Given the description of an element on the screen output the (x, y) to click on. 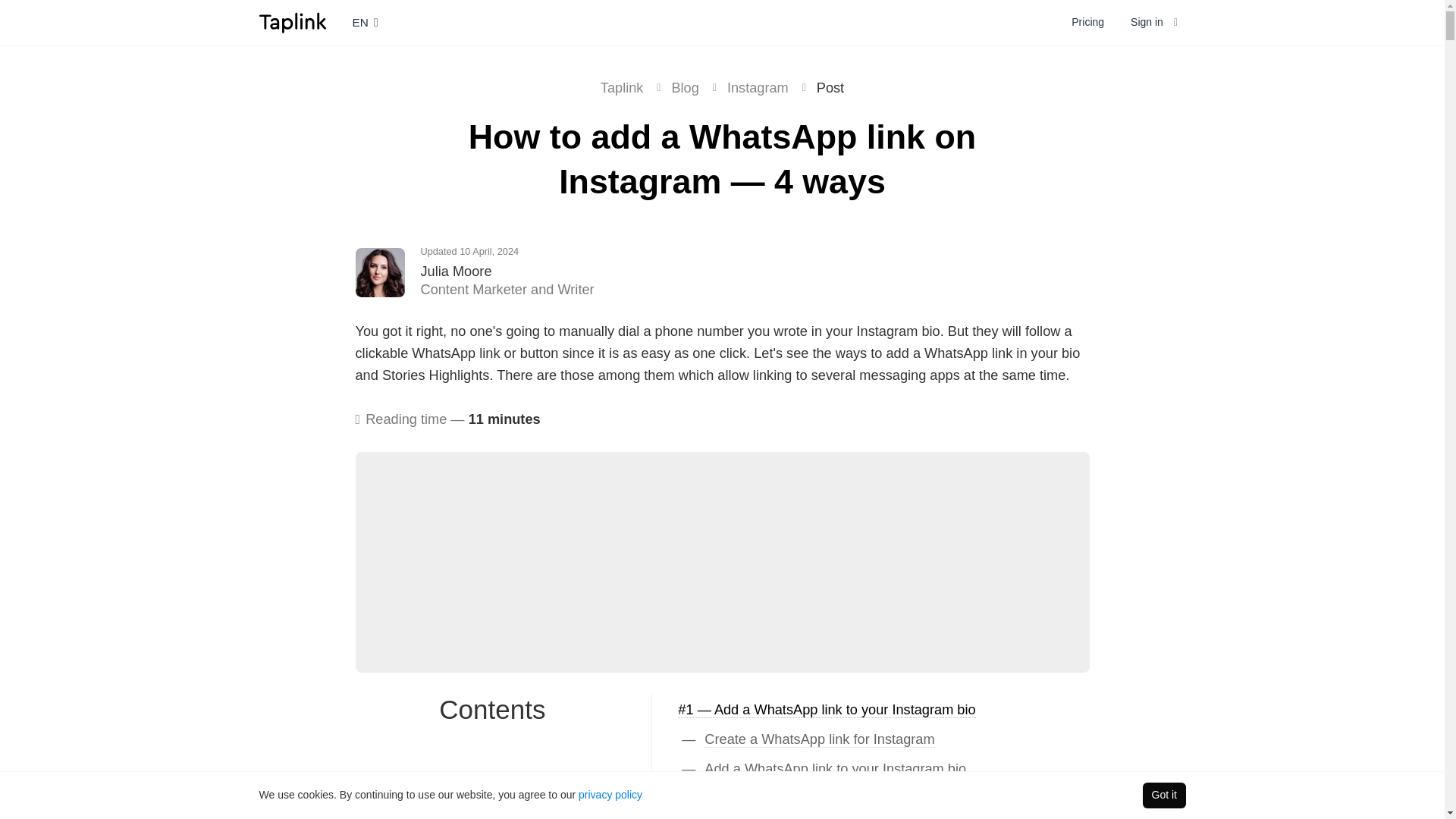
Pricing (1088, 22)
Create a WhatsApp link for Instagram (819, 739)
Taplink (621, 87)
Blog (684, 87)
Add a WhatsApp link to your Instagram bio (835, 769)
Taplink (292, 22)
Sign in (1154, 22)
EN (364, 22)
Instagram (757, 87)
